Given the description of an element on the screen output the (x, y) to click on. 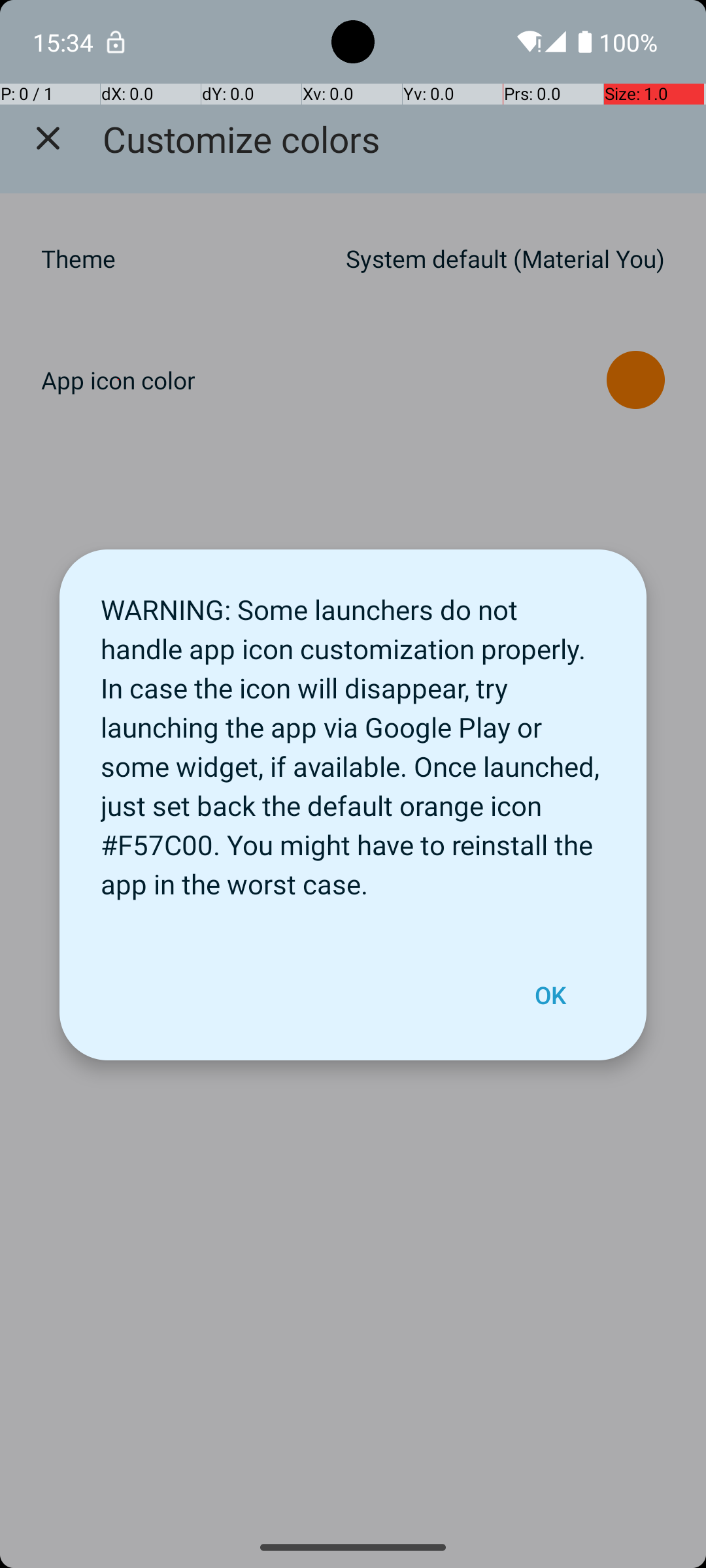
WARNING: Some launchers do not handle app icon customization properly. In case the icon will disappear, try launching the app via Google Play or some widget, if available. Once launched, just set back the default orange icon #F57C00. You might have to reinstall the app in the worst case. Element type: android.widget.TextView (352, 739)
